Given the description of an element on the screen output the (x, y) to click on. 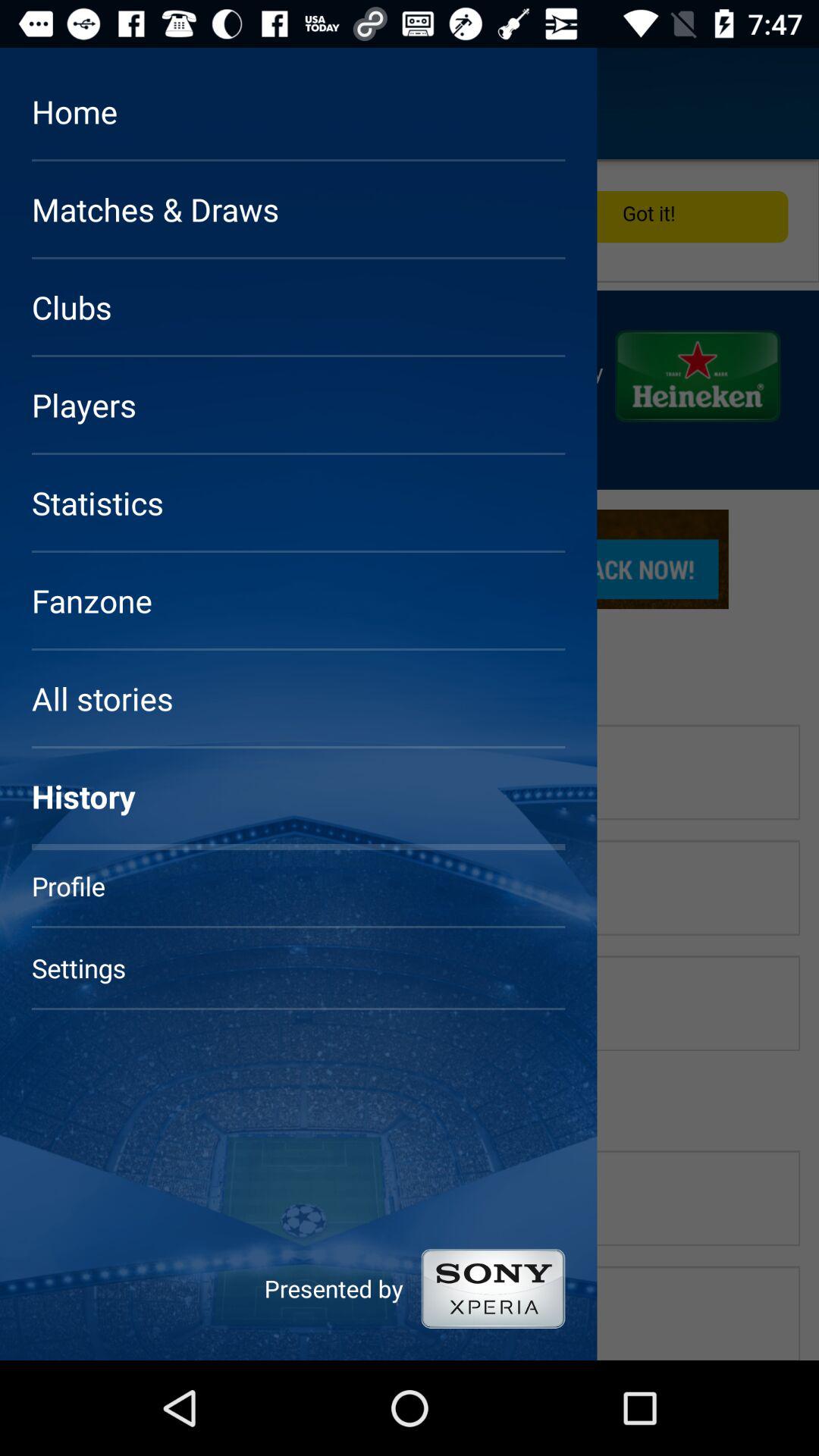
advertisement (409, 759)
